Given the description of an element on the screen output the (x, y) to click on. 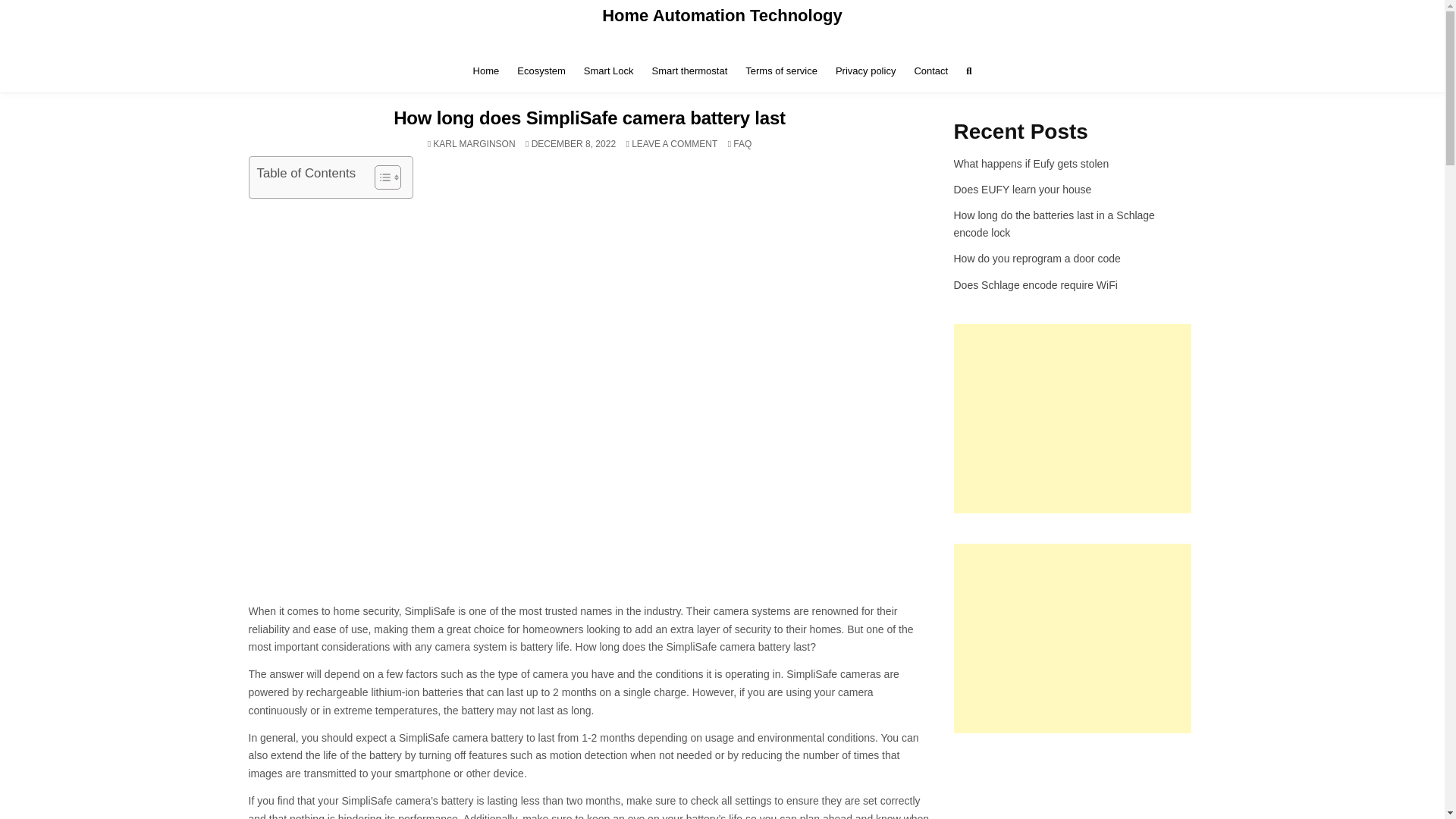
How do you reprogram a door code (1037, 258)
Smart thermostat (689, 70)
Home (486, 70)
Does Schlage encode require WiFi (1035, 285)
Smart Lock (609, 70)
How long does SimpliSafe camera battery last (589, 117)
KARL MARGINSON (473, 143)
Home Automation Technology (722, 15)
FAQ (742, 143)
Contact (930, 70)
How long do the batteries last in a Schlage encode lock (1053, 223)
Terms of service (781, 70)
Ecosystem (541, 70)
